Given the description of an element on the screen output the (x, y) to click on. 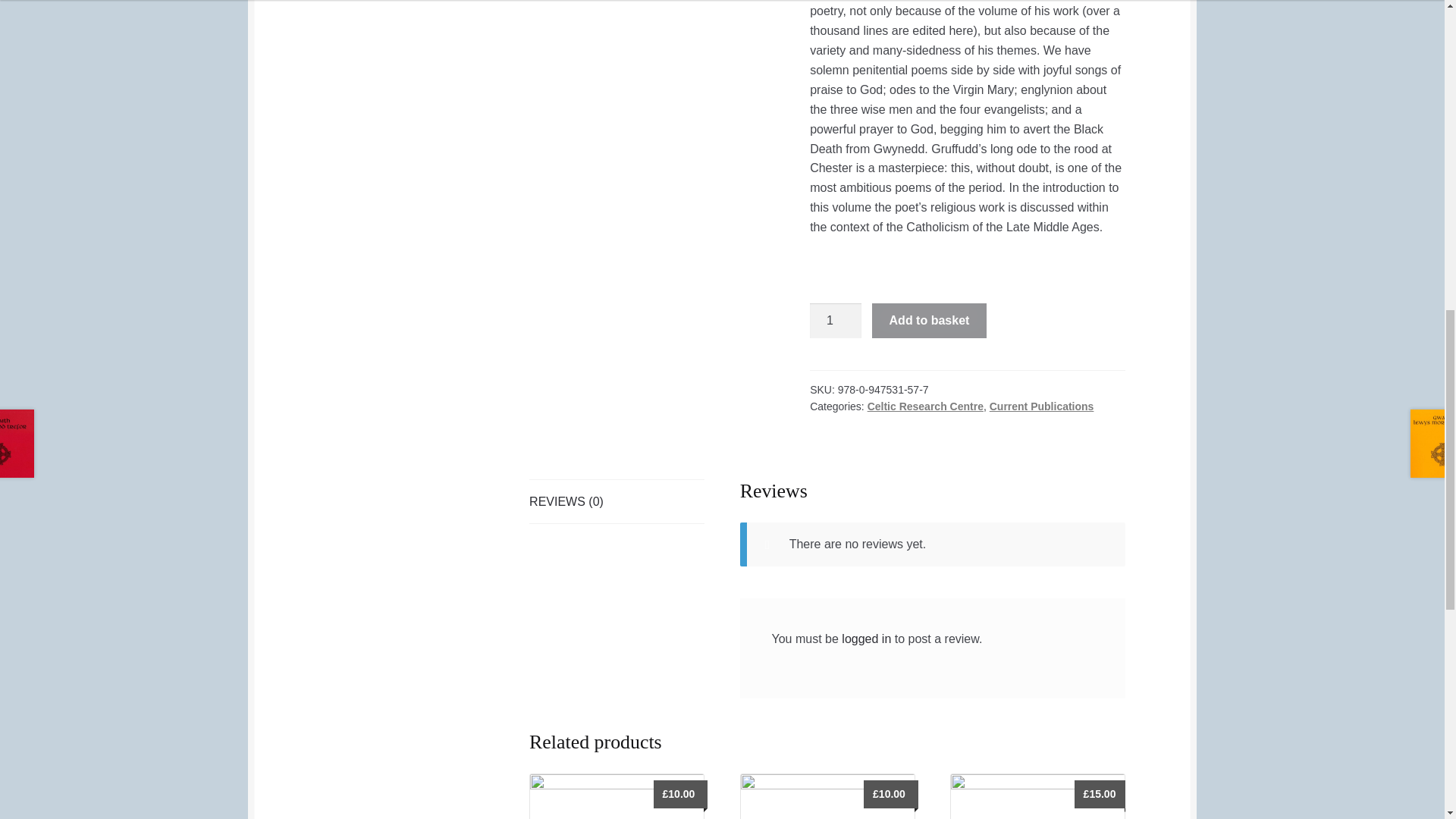
logged in (866, 638)
Add to basket (929, 320)
1 (835, 320)
Current Publications (1042, 406)
Celtic Research Centre (925, 406)
